Given the description of an element on the screen output the (x, y) to click on. 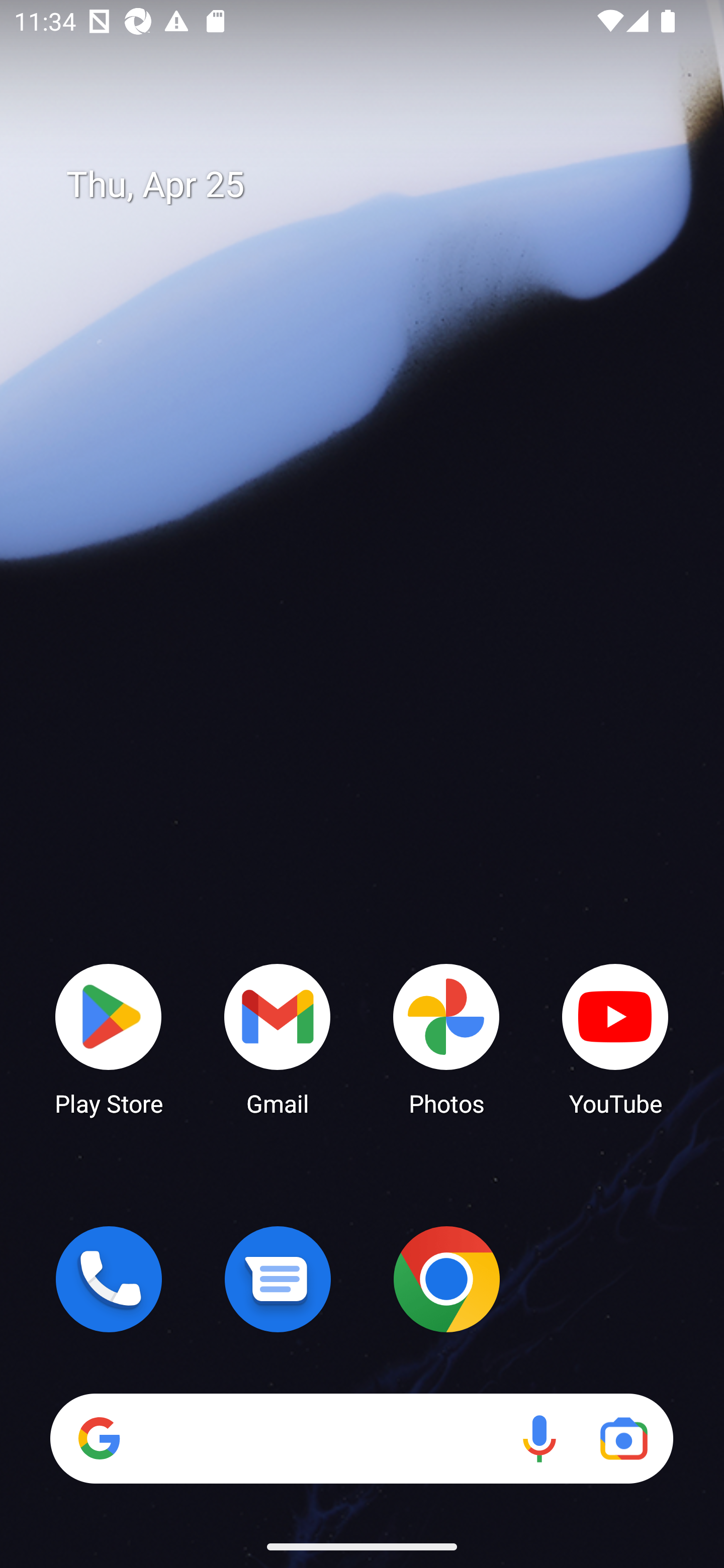
Thu, Apr 25 (375, 184)
Play Store (108, 1038)
Gmail (277, 1038)
Photos (445, 1038)
YouTube (615, 1038)
Phone (108, 1279)
Messages (277, 1279)
Chrome (446, 1279)
Search Voice search Google Lens (361, 1438)
Voice search (539, 1438)
Google Lens (623, 1438)
